Given the description of an element on the screen output the (x, y) to click on. 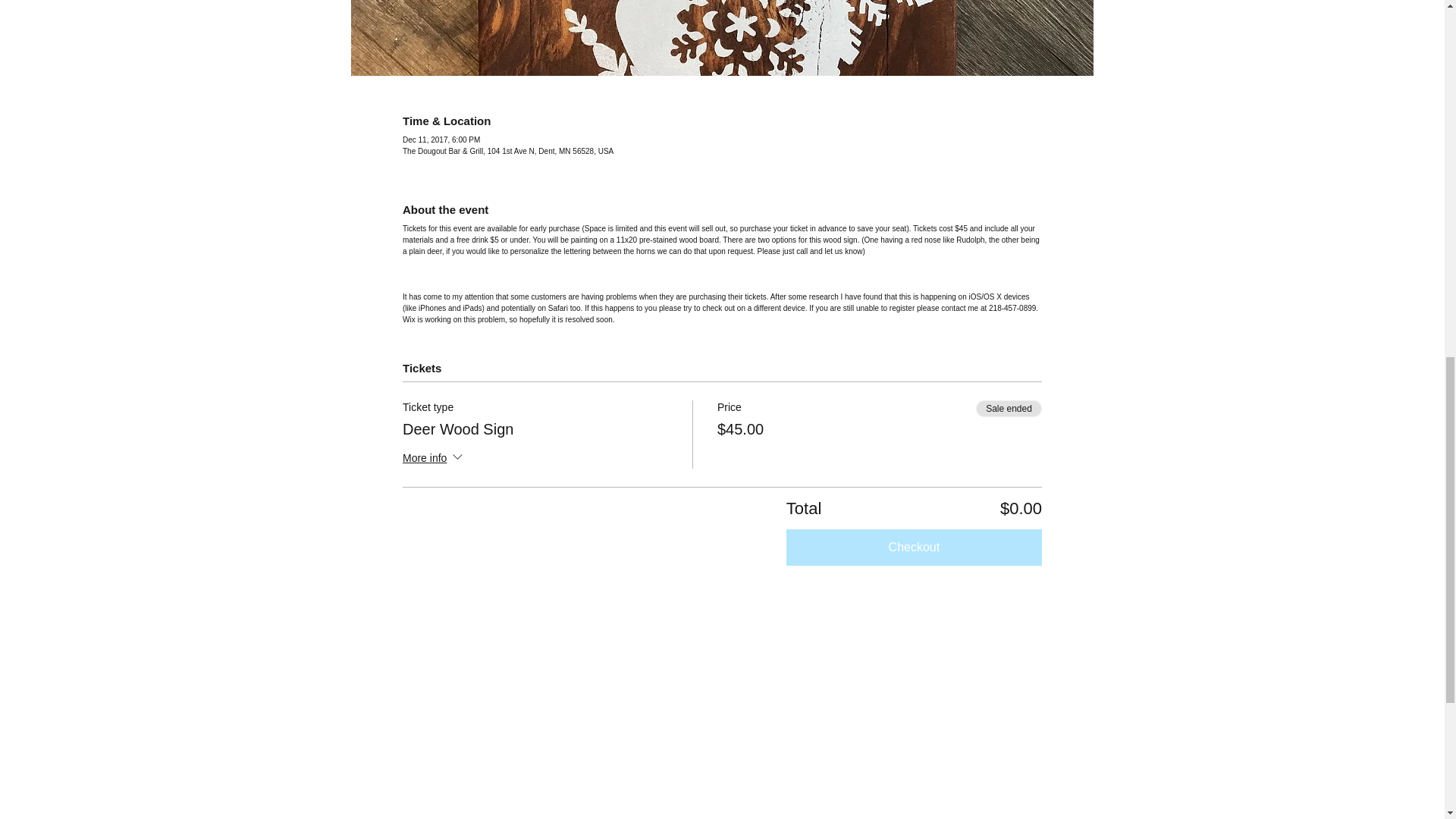
Checkout (914, 547)
More info (434, 458)
